Given the description of an element on the screen output the (x, y) to click on. 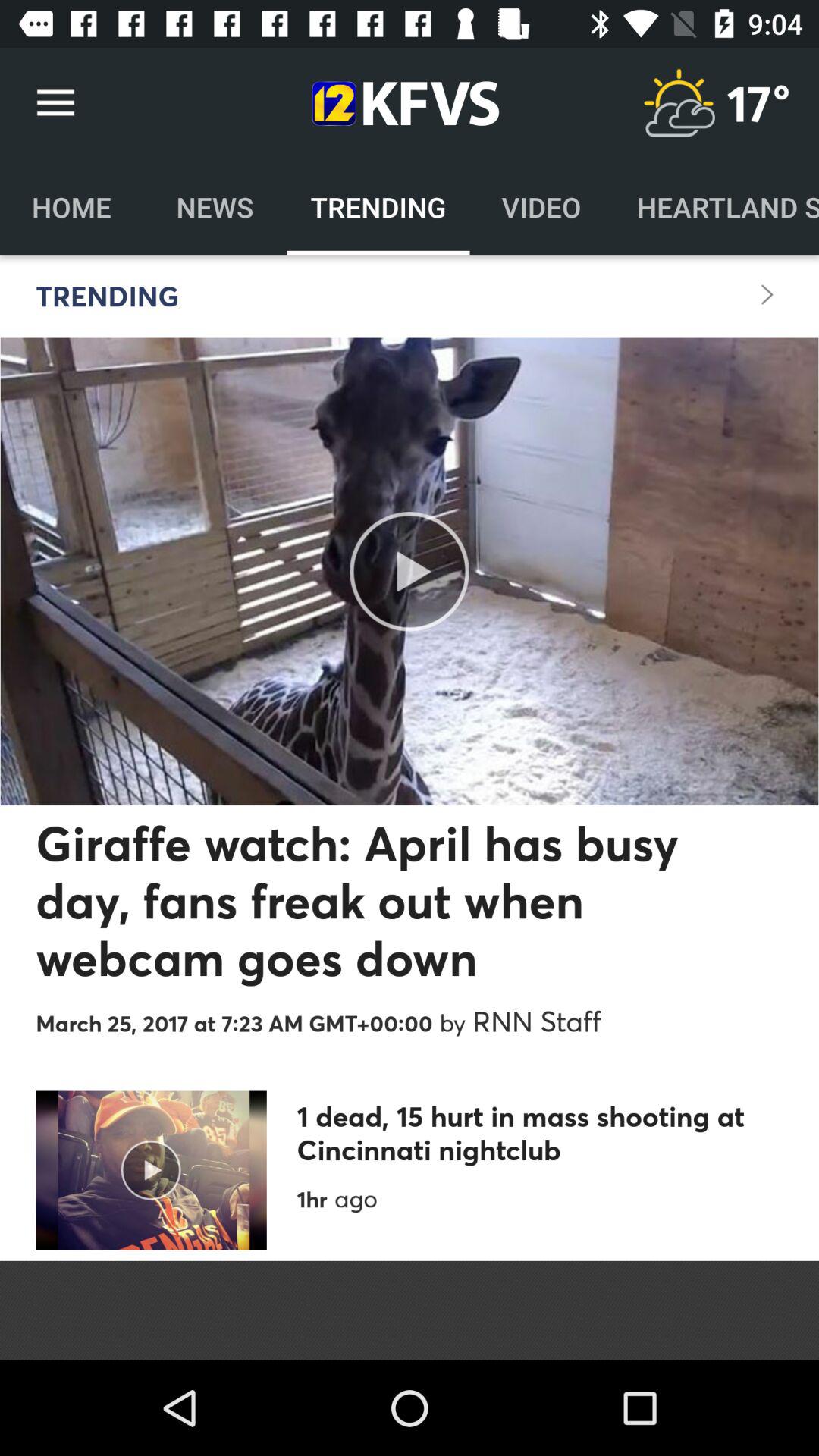
weather (678, 103)
